Given the description of an element on the screen output the (x, y) to click on. 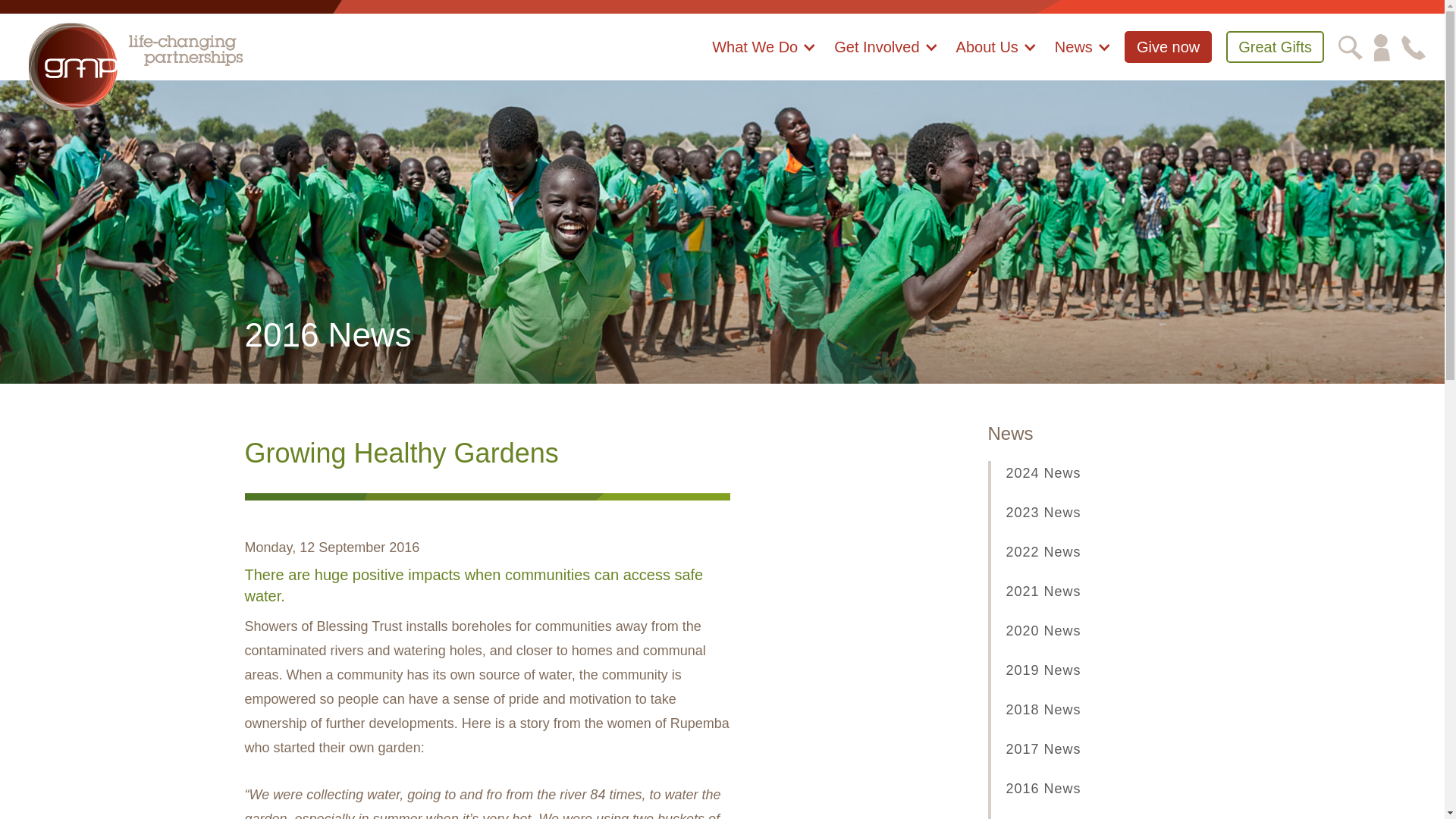
News (1082, 55)
Get Involved (885, 55)
What We Do (764, 55)
About Us (997, 55)
